Given the description of an element on the screen output the (x, y) to click on. 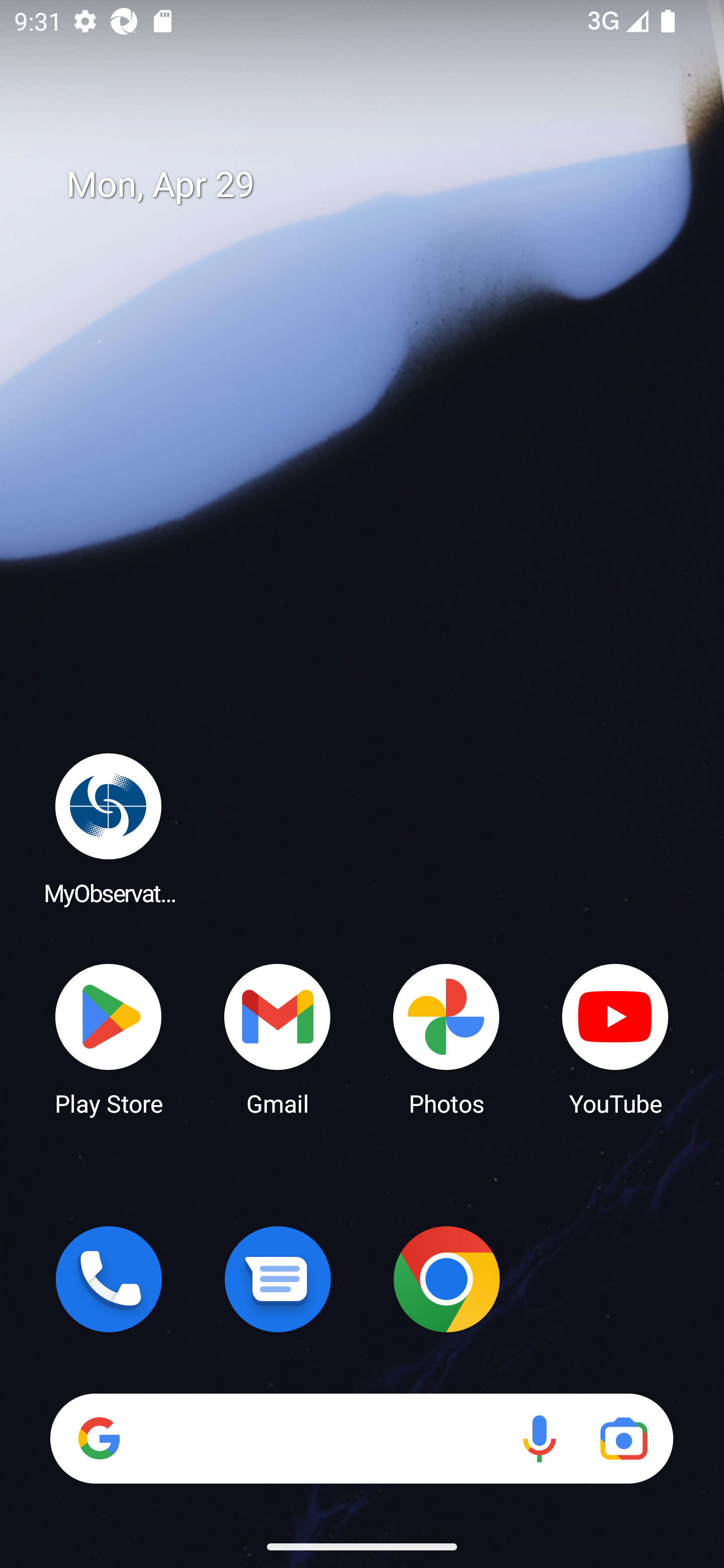
Mon, Apr 29 (375, 184)
MyObservatory (108, 828)
Play Store (108, 1038)
Gmail (277, 1038)
Photos (445, 1038)
YouTube (615, 1038)
Phone (108, 1279)
Messages (277, 1279)
Chrome (446, 1279)
Voice search (539, 1438)
Google Lens (623, 1438)
